Given the description of an element on the screen output the (x, y) to click on. 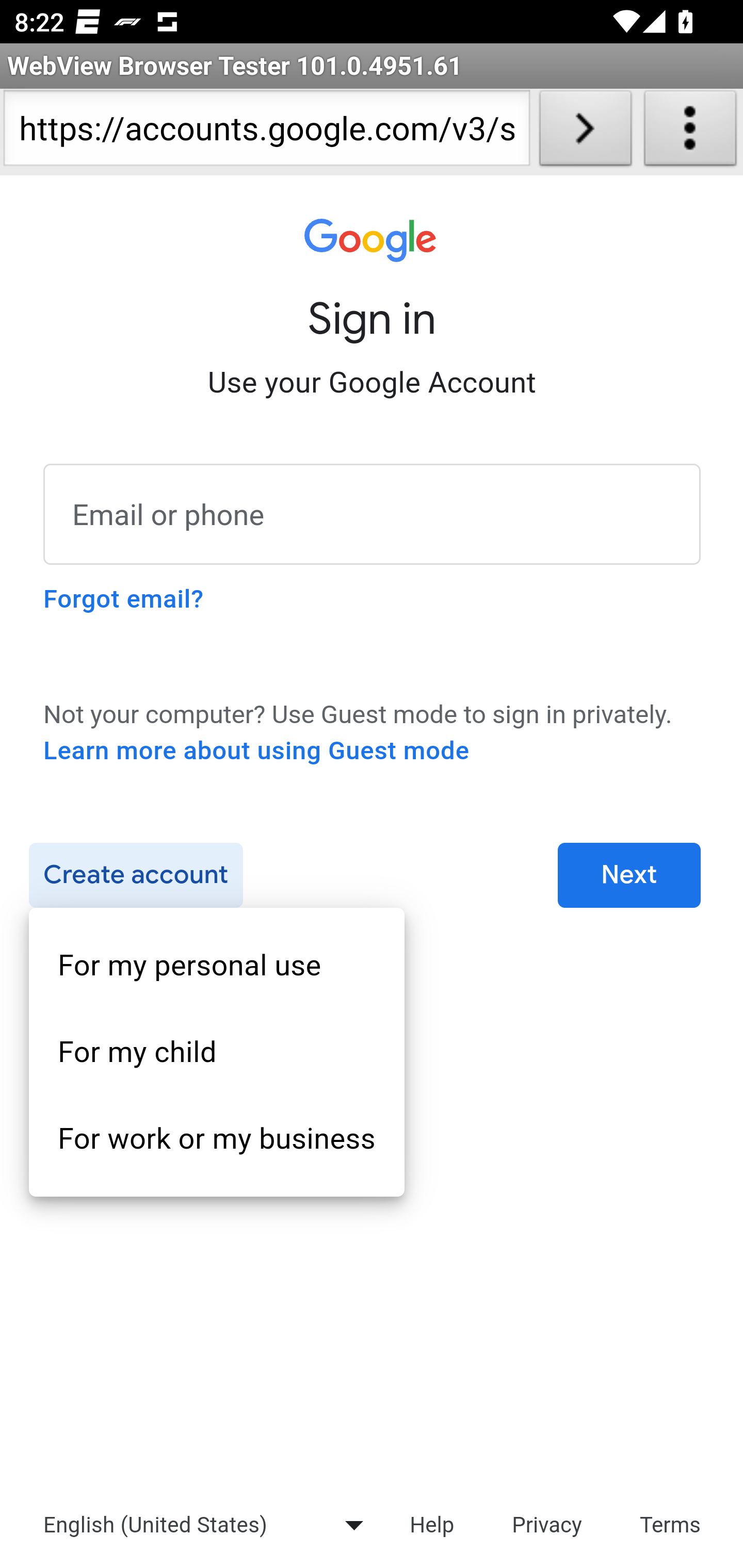
Load URL (585, 132)
About WebView (690, 132)
Forgot email? (123, 599)
Learn more about using Guest mode (256, 750)
Create account (134, 875)
Next (629, 875)
Help (430, 1524)
Privacy (547, 1524)
Terms (670, 1524)
